Given the description of an element on the screen output the (x, y) to click on. 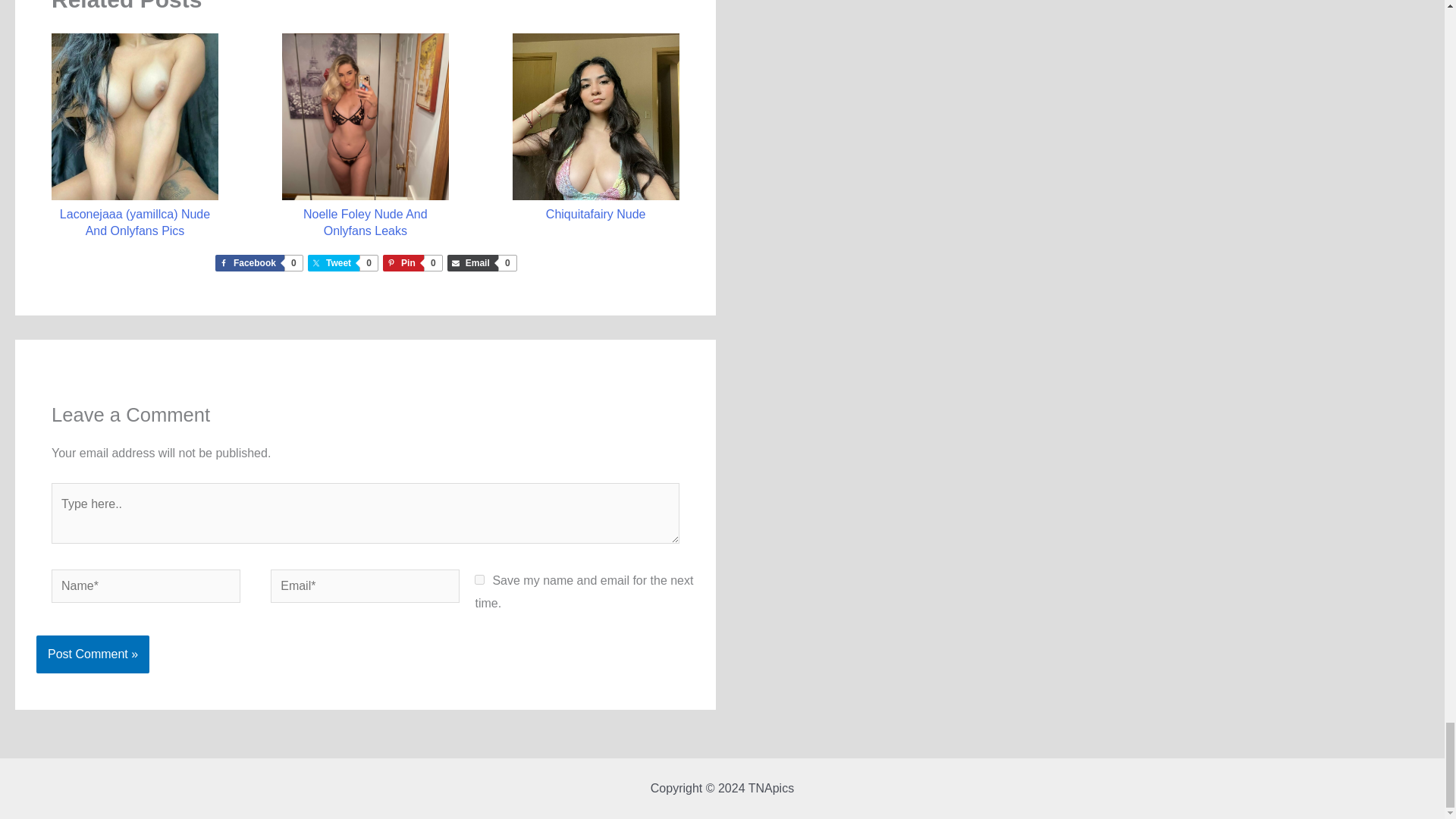
Share on Facebook (258, 262)
yes (479, 579)
Share on Pinterest (411, 262)
Share via Email (480, 262)
Share on Twitter (480, 262)
